Given the description of an element on the screen output the (x, y) to click on. 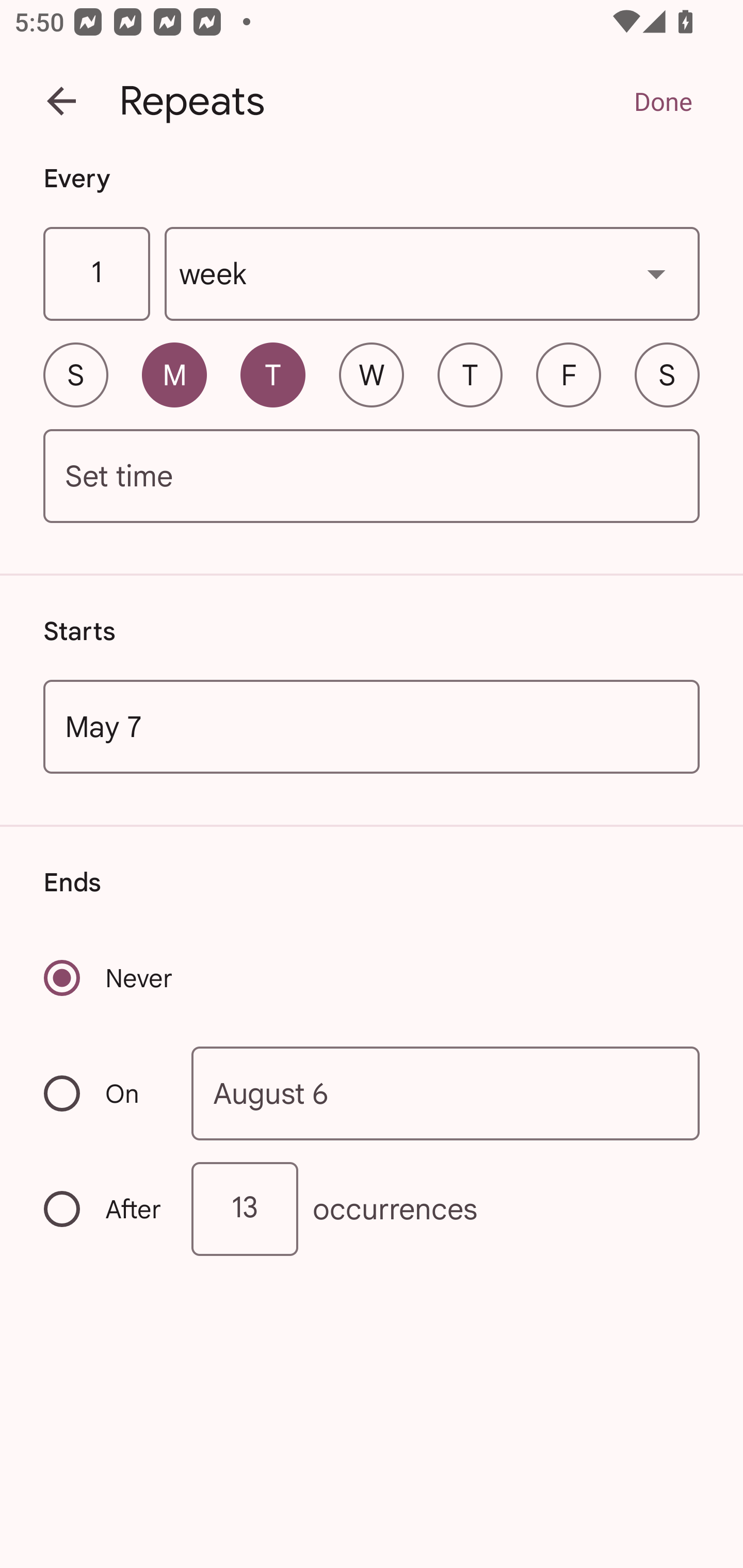
Back (61, 101)
Done (663, 101)
1 (96, 274)
week (431, 274)
Show dropdown menu (655, 273)
S Sunday (75, 374)
M Monday, selected (173, 374)
T Tuesday, selected (272, 374)
W Wednesday (371, 374)
T Thursday (469, 374)
F Friday (568, 374)
S Saturday (666, 374)
Set time (371, 476)
May 7 (371, 726)
Never Recurrence never ends (109, 978)
August 6 (445, 1092)
On Recurrence ends on a specific date (104, 1093)
13 (244, 1208)
